Given the description of an element on the screen output the (x, y) to click on. 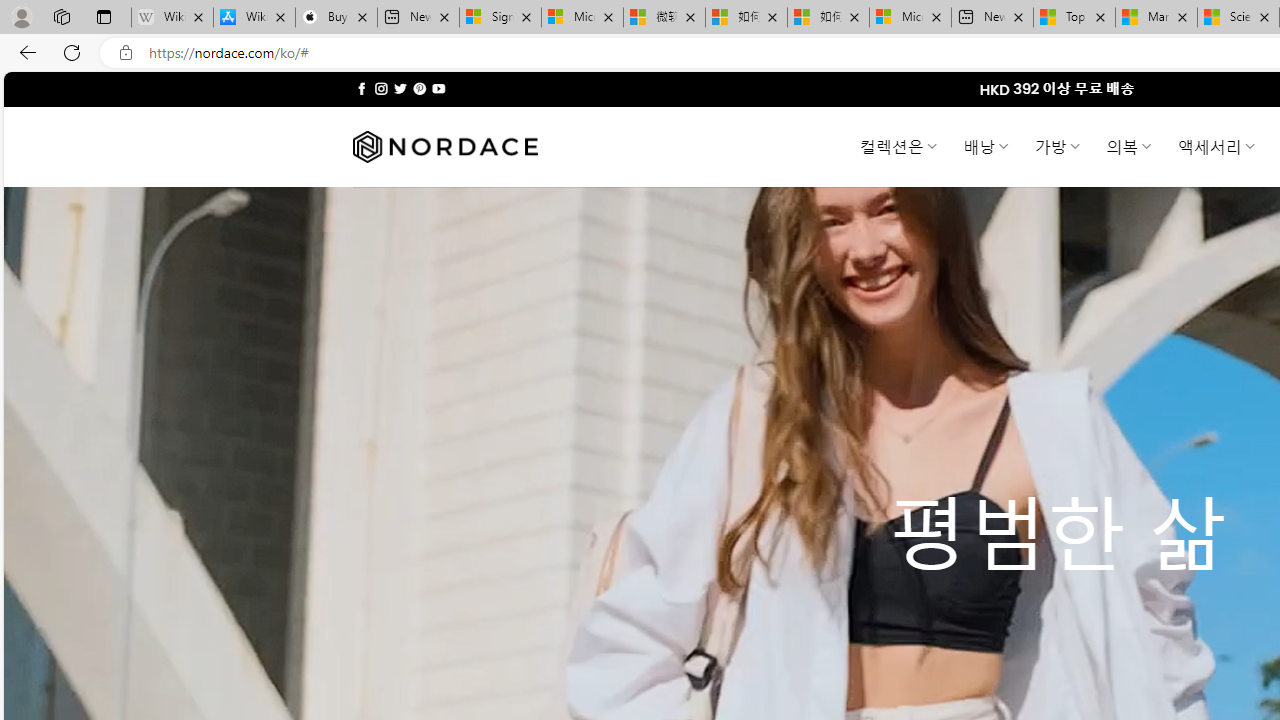
Follow on Twitter (400, 88)
